Given the description of an element on the screen output the (x, y) to click on. 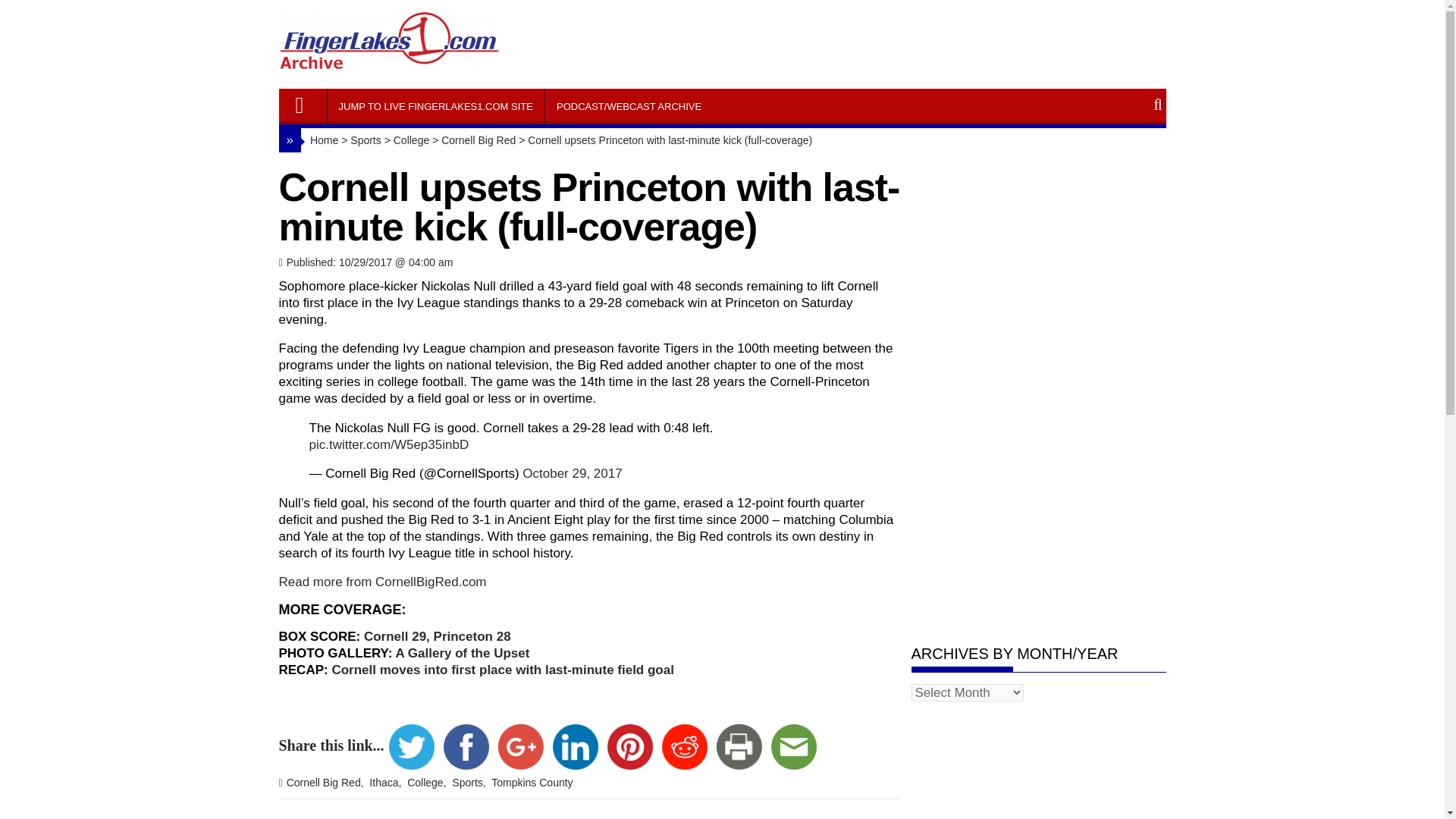
twitter (411, 746)
reddit (684, 746)
linkedin (575, 746)
facebook (466, 746)
Sports (365, 140)
College (411, 140)
Read more from CornellBigRed.com (382, 581)
College (427, 782)
